Given the description of an element on the screen output the (x, y) to click on. 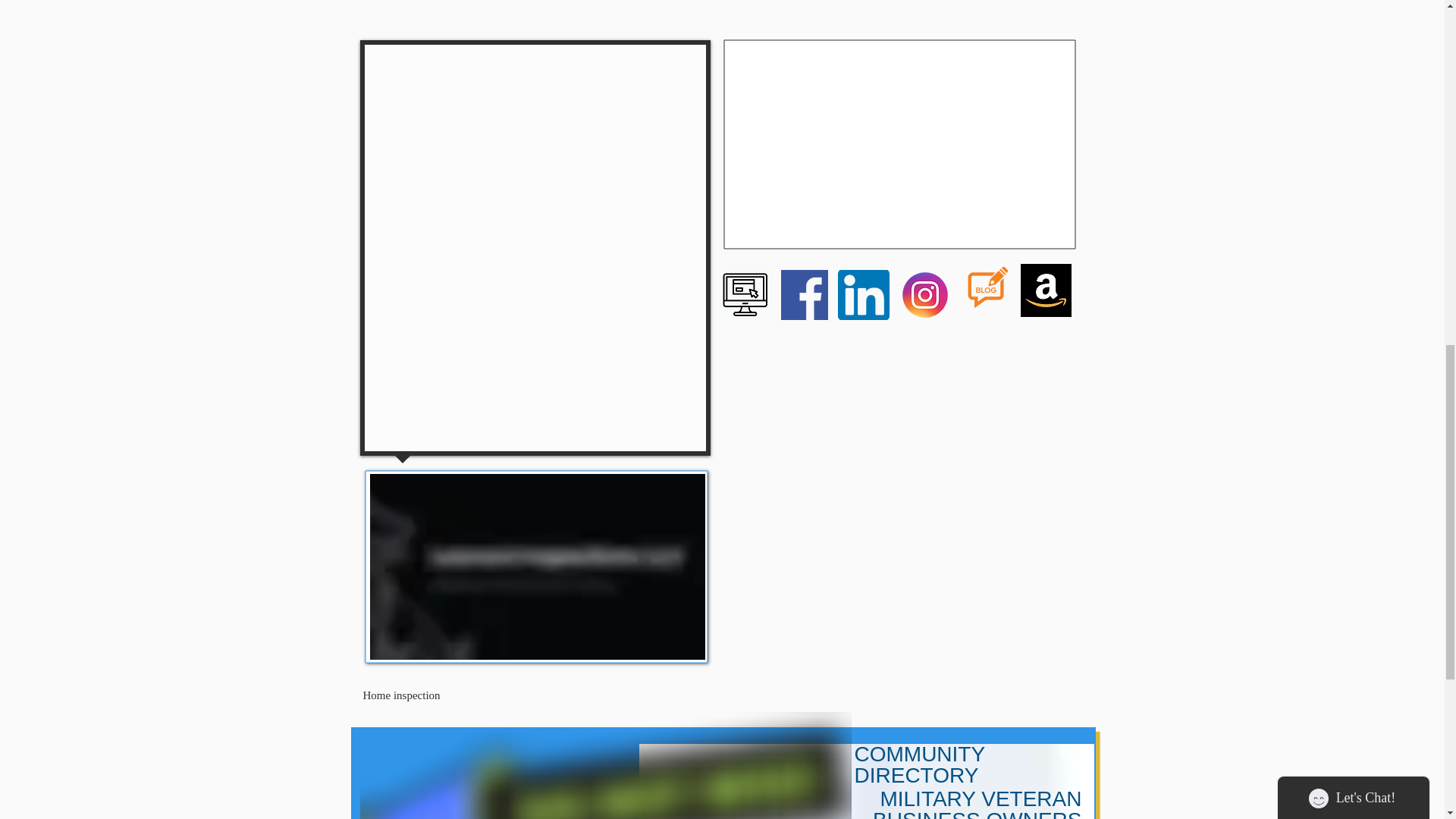
leonardInspectionsLLC.jpg (536, 567)
